Given the description of an element on the screen output the (x, y) to click on. 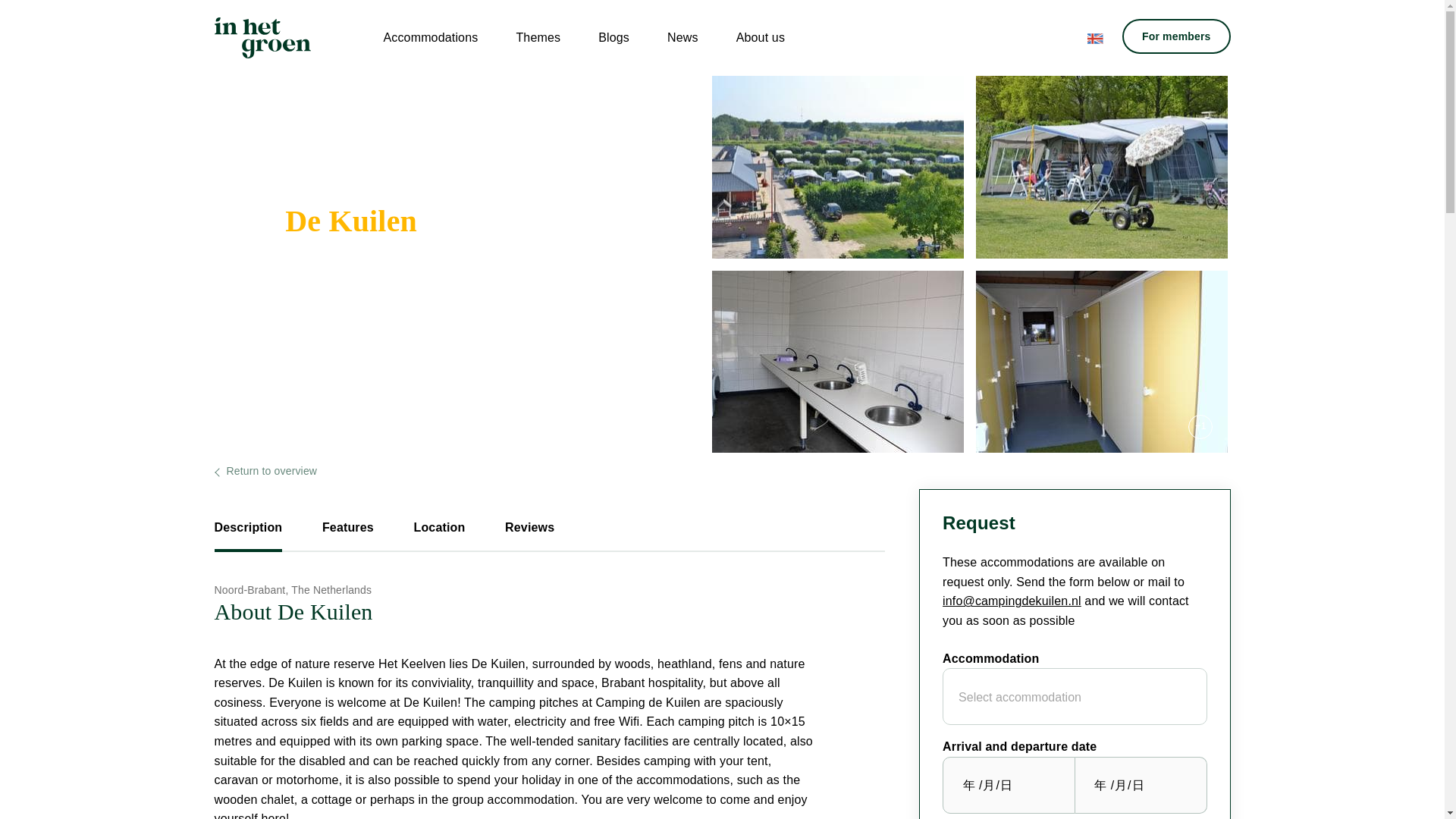
About us (760, 37)
News (682, 37)
Accommodations (430, 37)
Terug naar de homepage (262, 37)
For members (1176, 36)
Description (248, 534)
Location (438, 534)
Location (438, 534)
Features (347, 534)
Features (347, 534)
Themes (537, 37)
Return to overview (265, 470)
Description (248, 534)
Reviews (529, 534)
Reviews (529, 534)
